Given the description of an element on the screen output the (x, y) to click on. 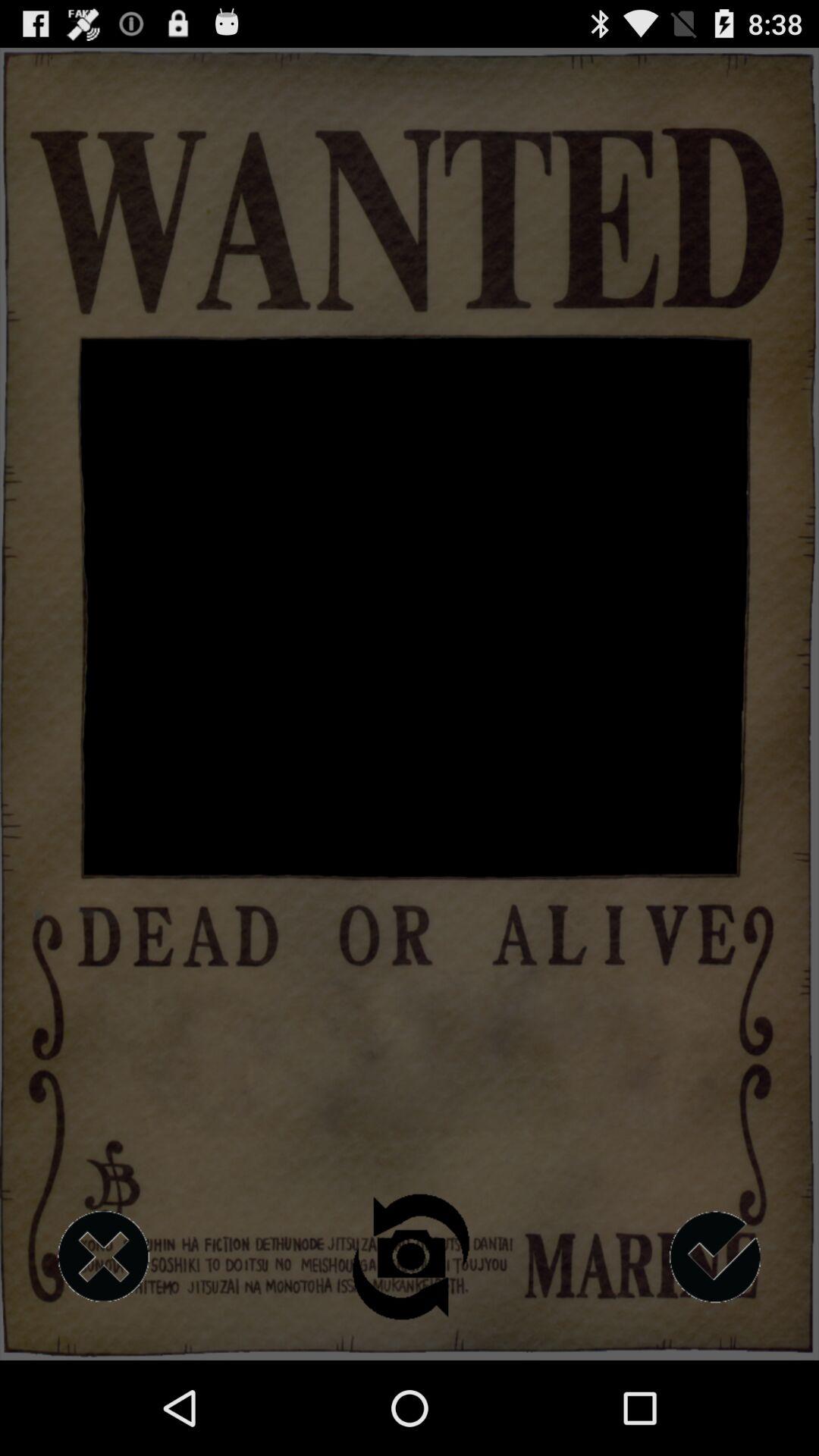
launch the icon at the bottom right corner (715, 1256)
